Given the description of an element on the screen output the (x, y) to click on. 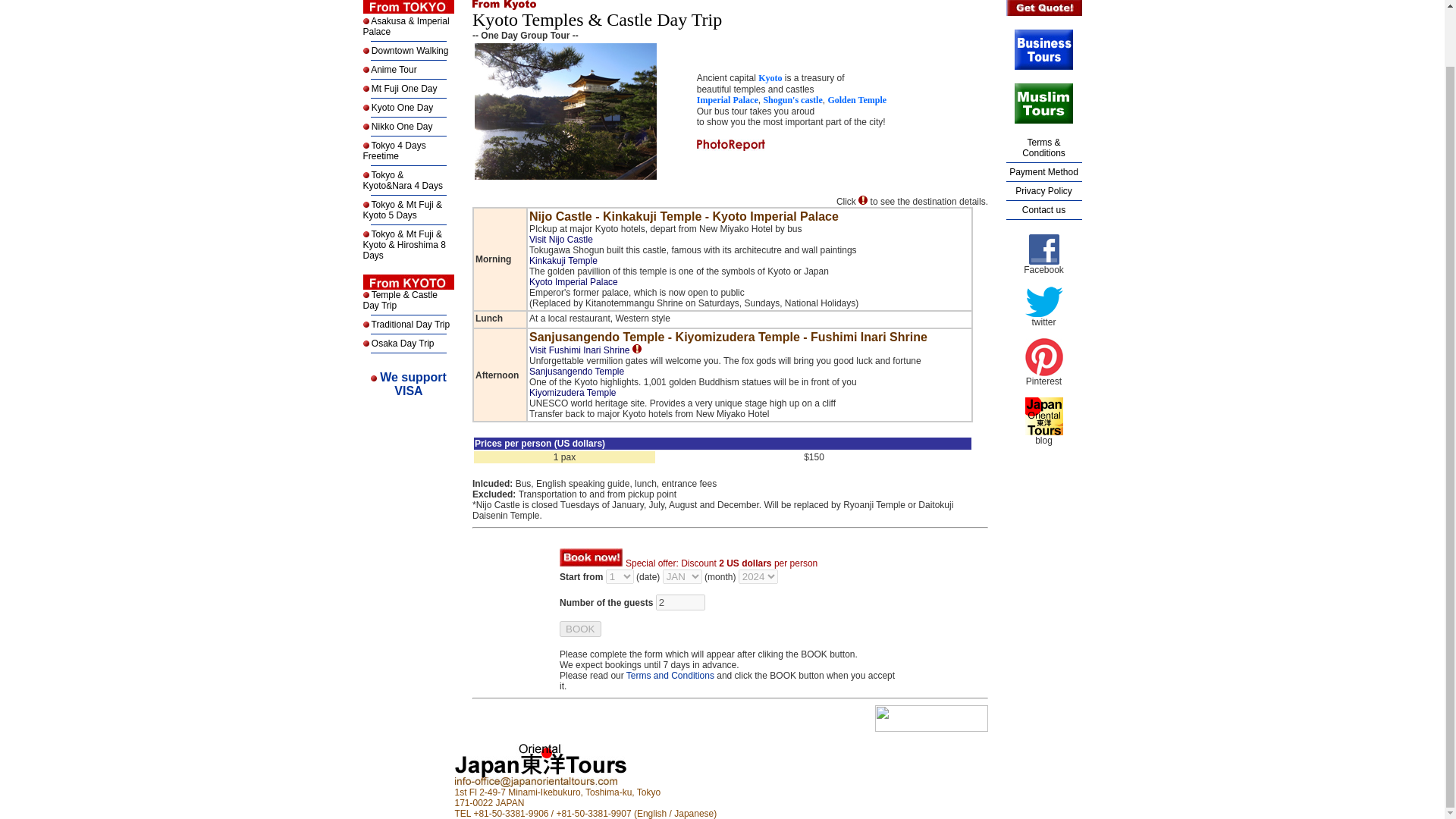
2 (680, 602)
Kyoto One Day (400, 107)
BOOK (580, 628)
Traditional Day Trip (408, 324)
Privacy Policy (413, 384)
Downtown Walking (1042, 190)
Payment Method (409, 50)
Nikko One Day (1043, 172)
Tokyo 4 Days Freetime (400, 126)
